Given the description of an element on the screen output the (x, y) to click on. 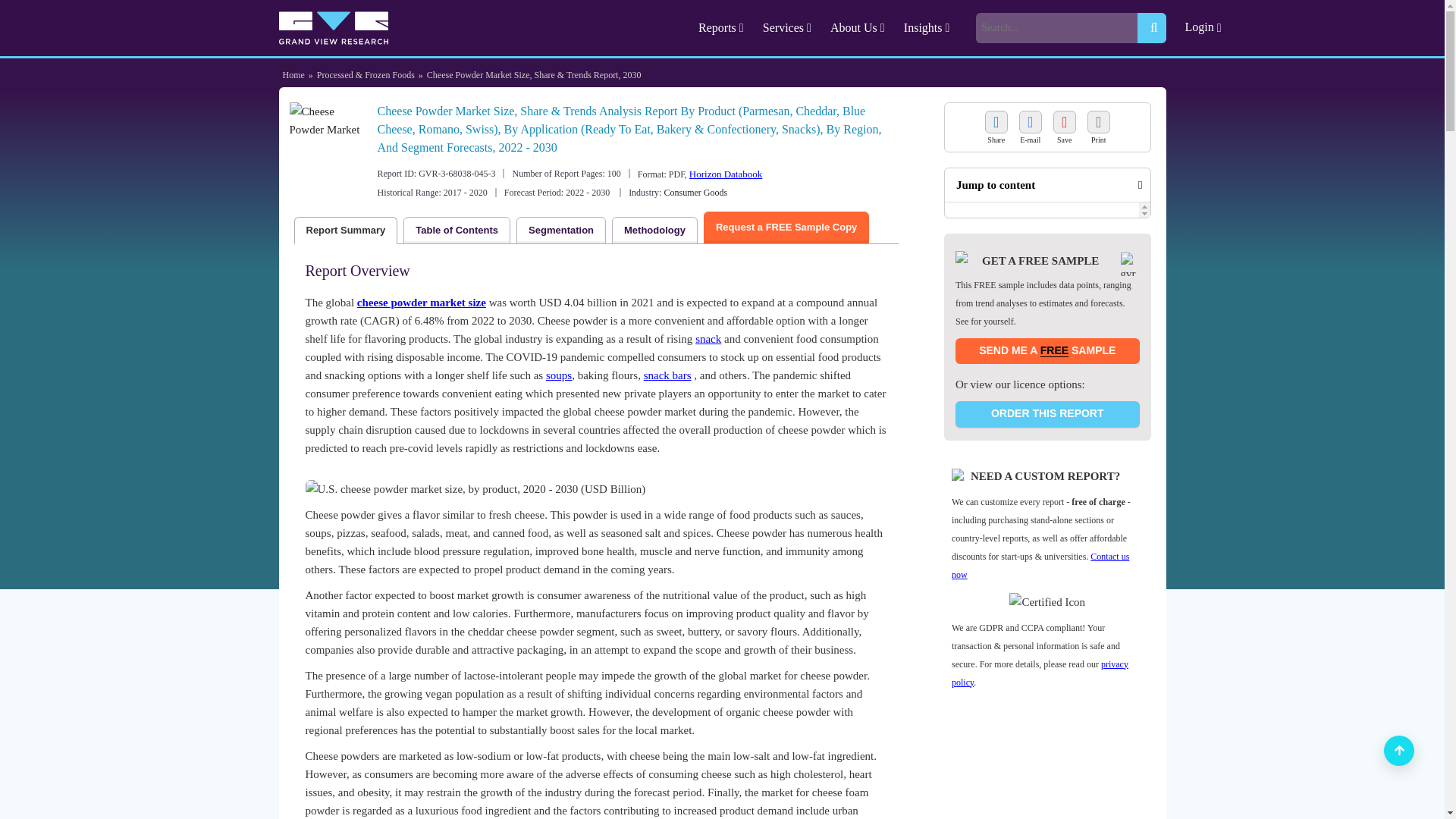
Reports (722, 27)
